Given the description of an element on the screen output the (x, y) to click on. 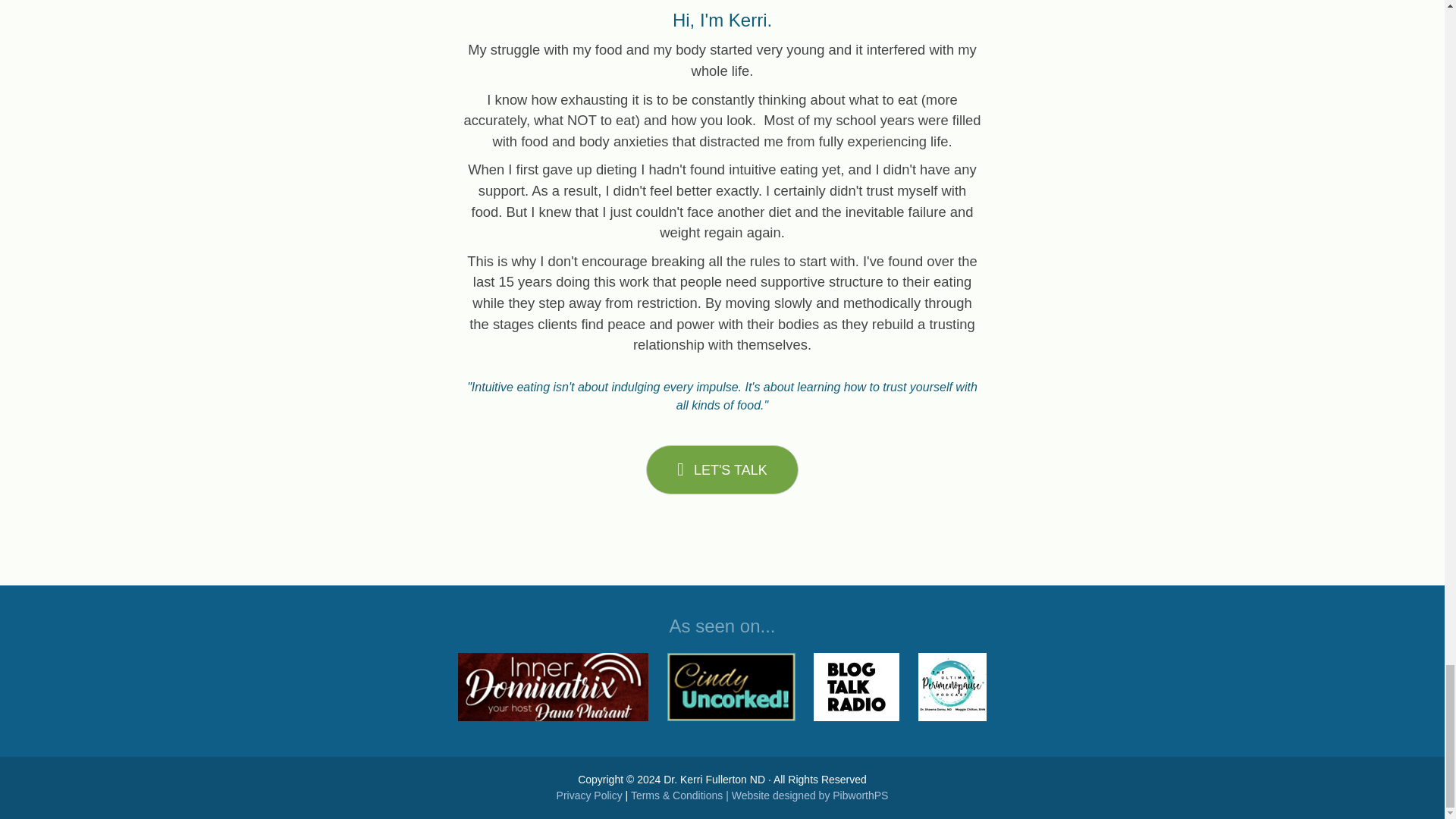
LET'S TALK (721, 469)
PibworthPS (860, 795)
Privacy Policy (589, 795)
